Given the description of an element on the screen output the (x, y) to click on. 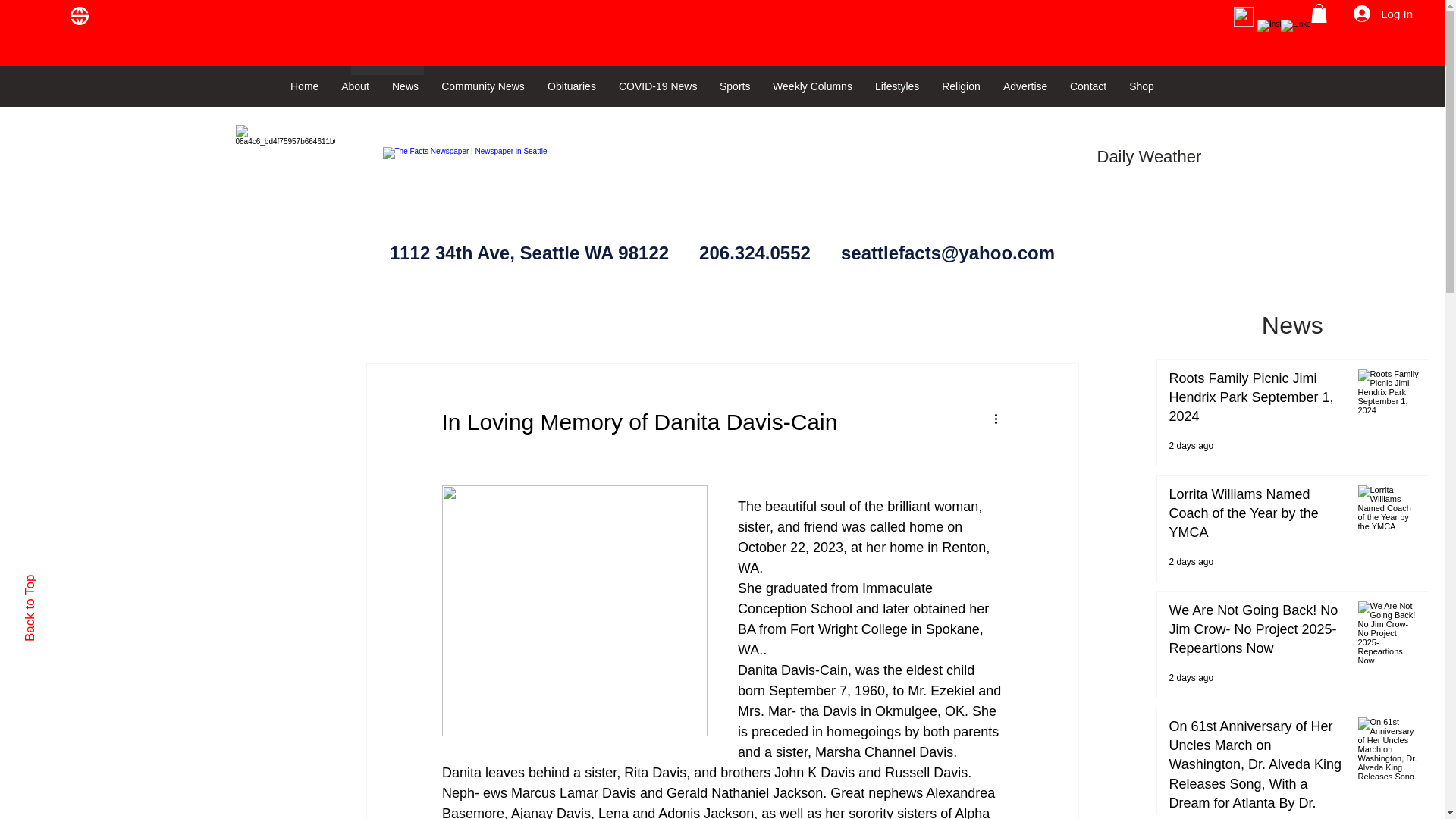
Lorrita Williams Named Coach of the Year by the YMCA (1257, 516)
Contact (1088, 86)
Community News (482, 86)
Log In (1382, 13)
News (404, 86)
Home (304, 86)
Obituaries (571, 86)
2 days ago (1191, 677)
Sports (734, 86)
About (355, 86)
